Given the description of an element on the screen output the (x, y) to click on. 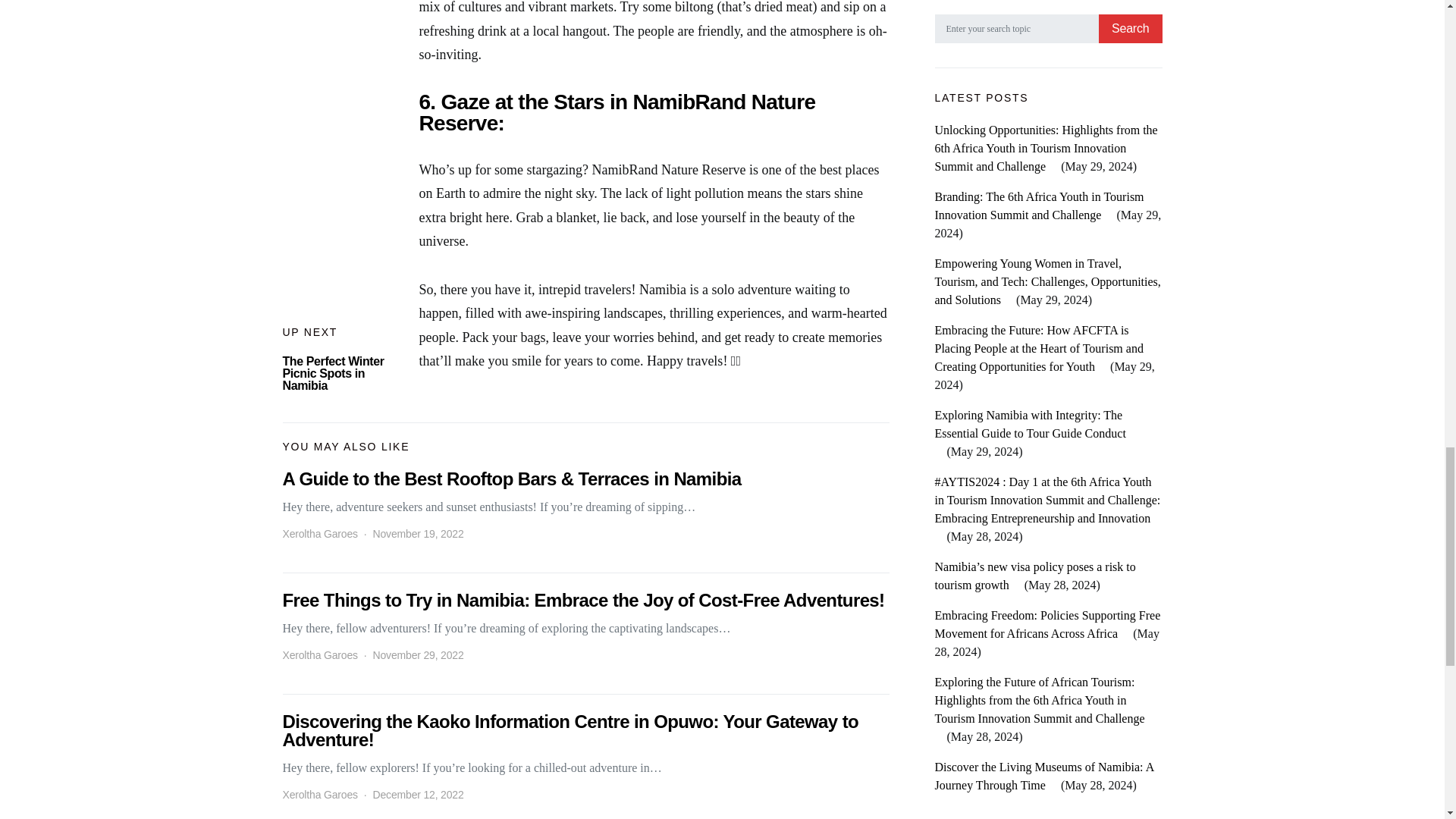
Xeroltha Garoes (319, 795)
View all posts by Xeroltha Garoes (319, 534)
View all posts by Xeroltha Garoes (319, 655)
Xeroltha Garoes (319, 655)
The Perfect Winter Picnic Spots in Namibia (333, 373)
View all posts by Xeroltha Garoes (319, 795)
Xeroltha Garoes (319, 534)
